Given the description of an element on the screen output the (x, y) to click on. 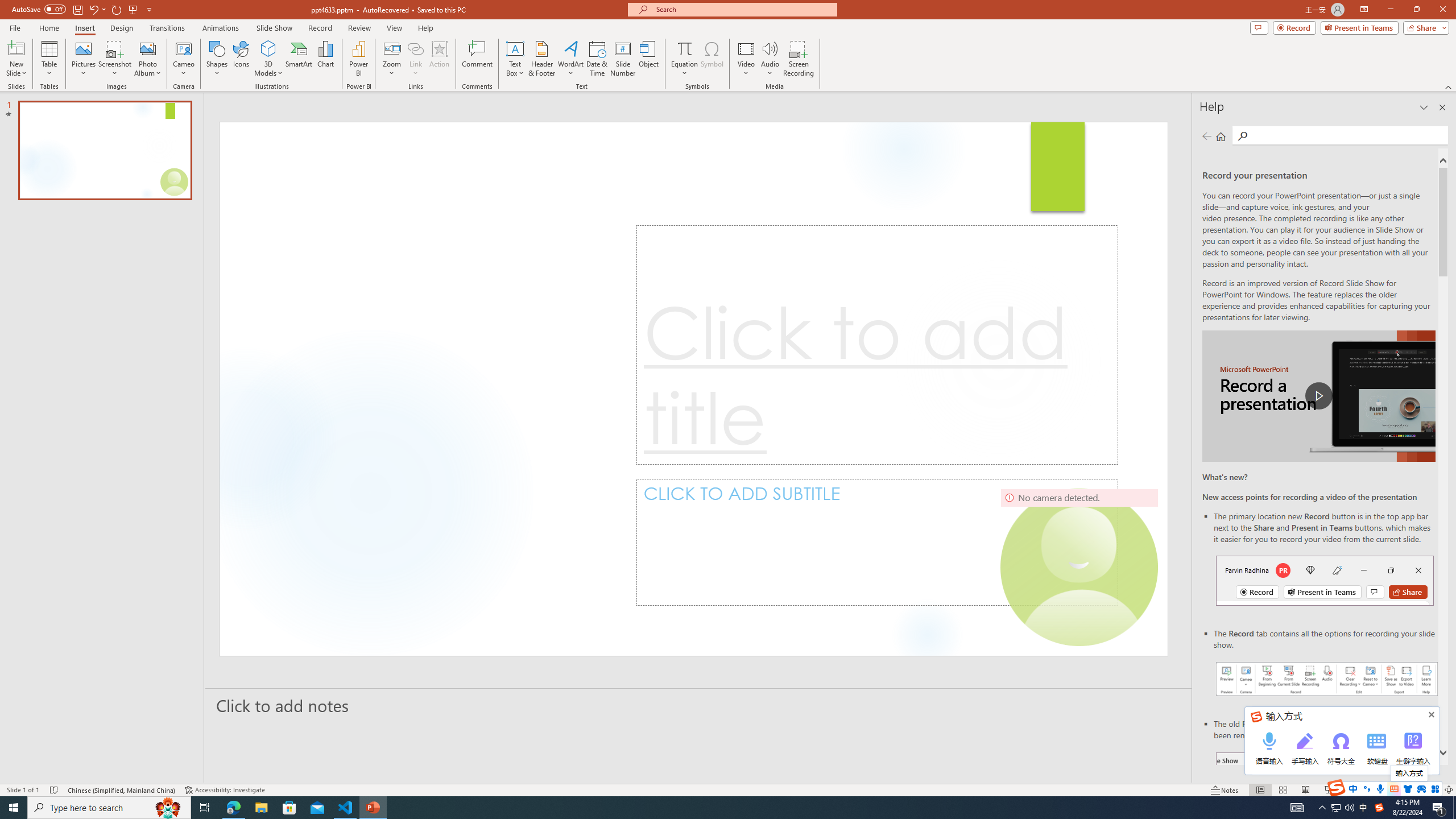
Draw Horizontal Text Box (515, 48)
Video (745, 58)
Slide Number (622, 58)
Object... (649, 58)
